Given the description of an element on the screen output the (x, y) to click on. 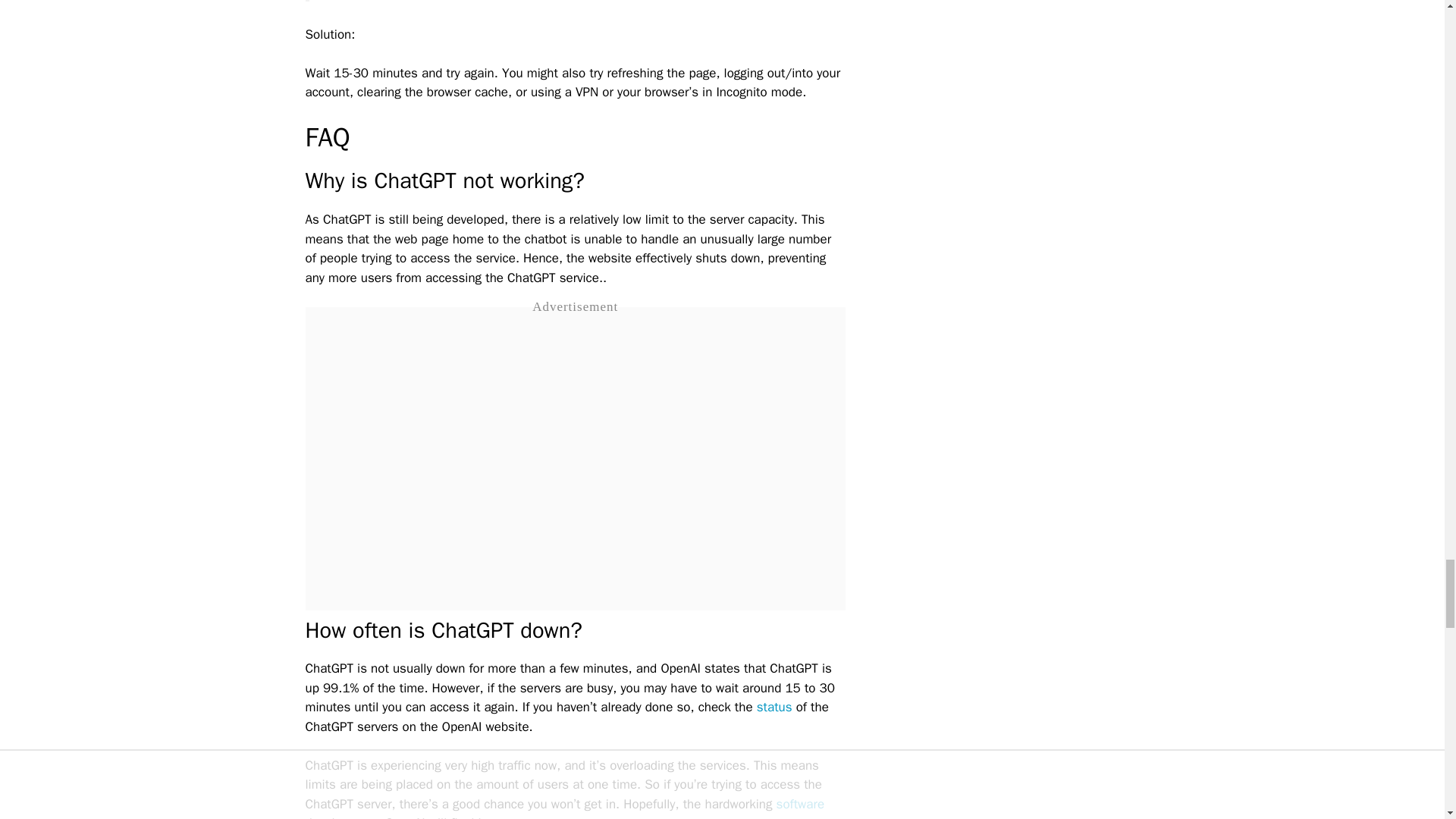
software (800, 804)
